Given the description of an element on the screen output the (x, y) to click on. 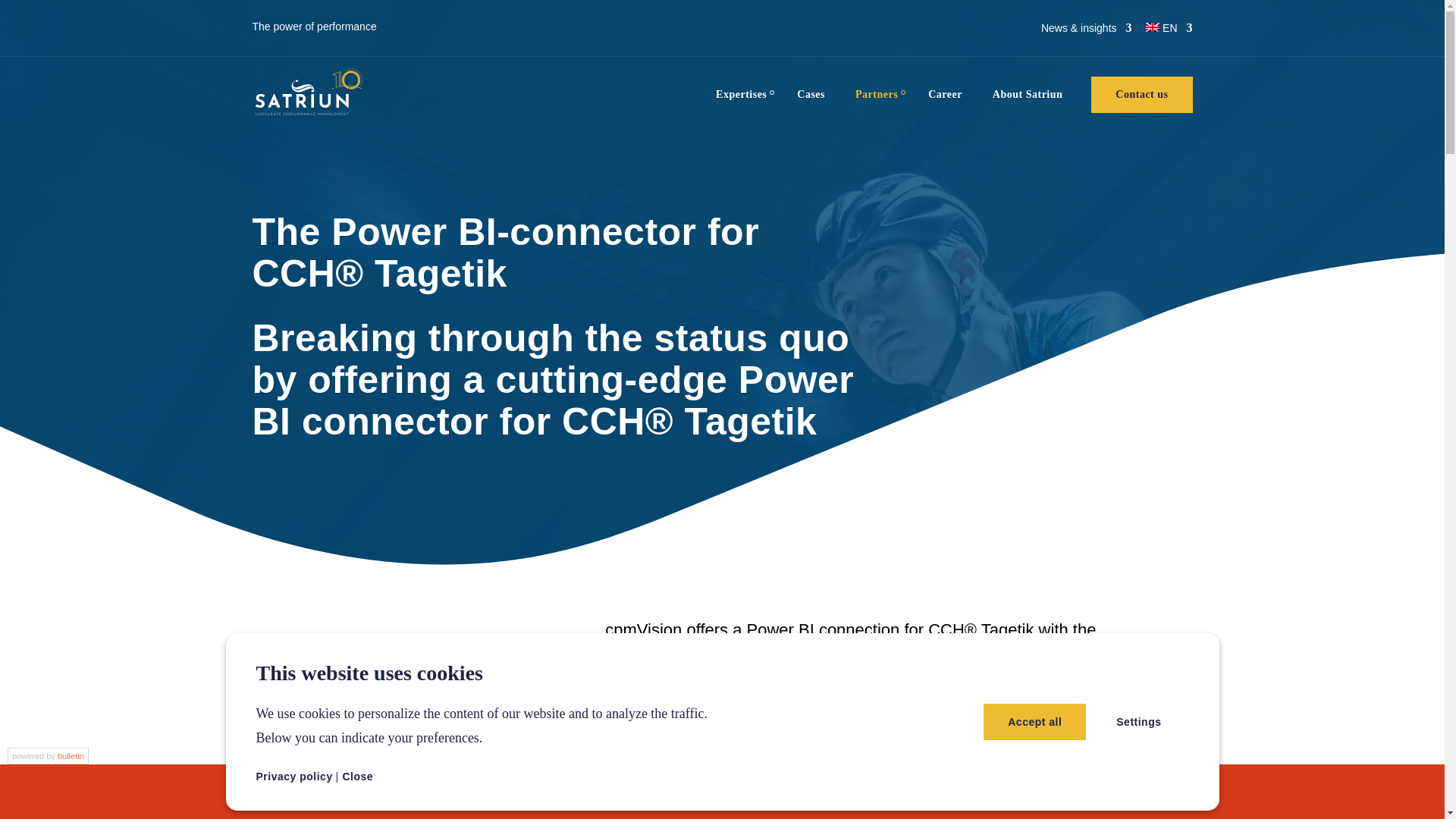
EN (1168, 27)
Expertises (740, 94)
Partners (876, 94)
Cases (810, 94)
EN (1168, 27)
